Given the description of an element on the screen output the (x, y) to click on. 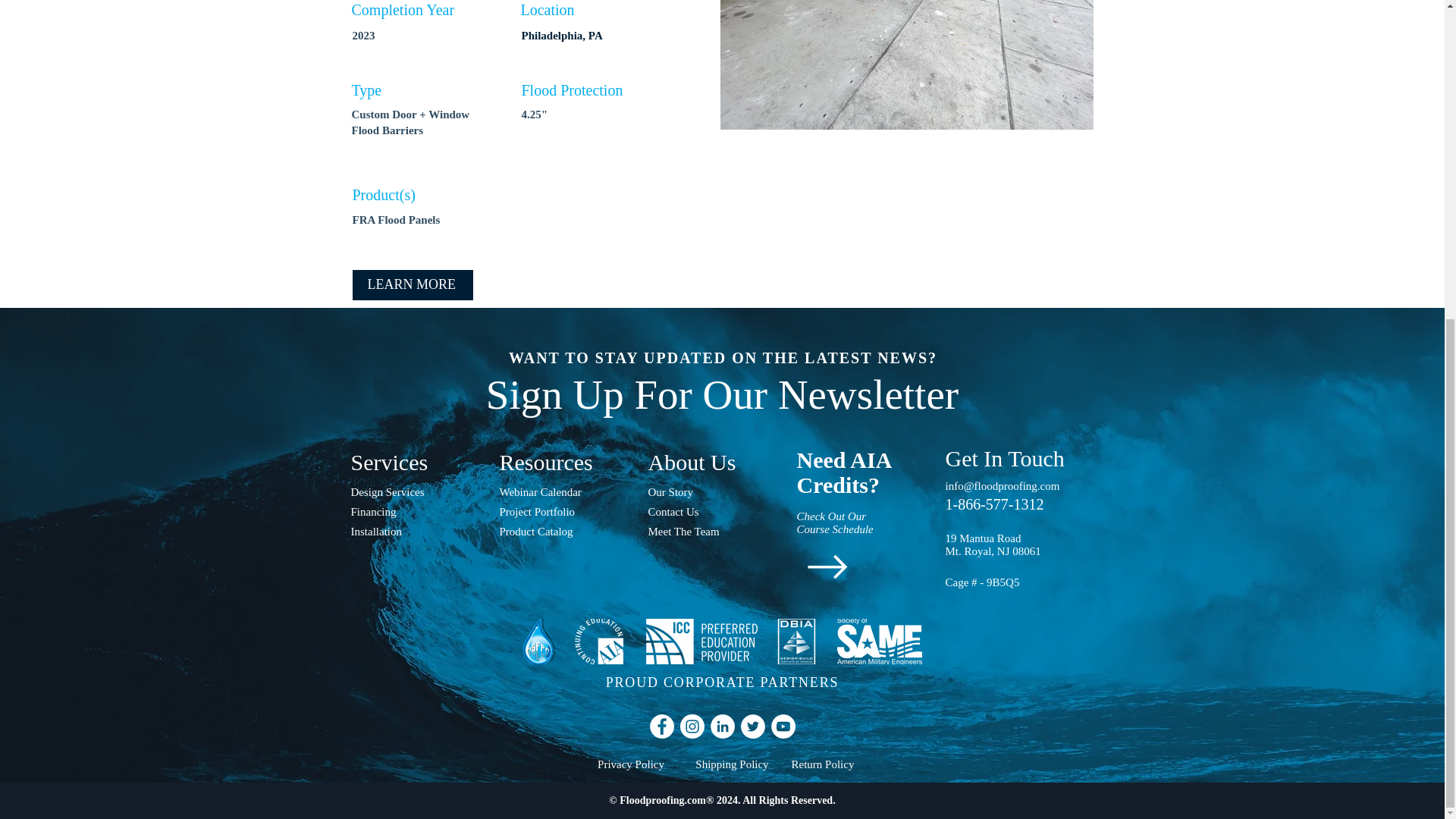
Resources (563, 462)
Sign Up For Our Newsletter (721, 394)
Services (414, 462)
LEARN MORE (411, 285)
Financing (414, 512)
Product Catalog (563, 532)
Webinar Calendar (563, 493)
Installation (414, 532)
Project Portfolio (563, 512)
Design Services (414, 493)
